Given the description of an element on the screen output the (x, y) to click on. 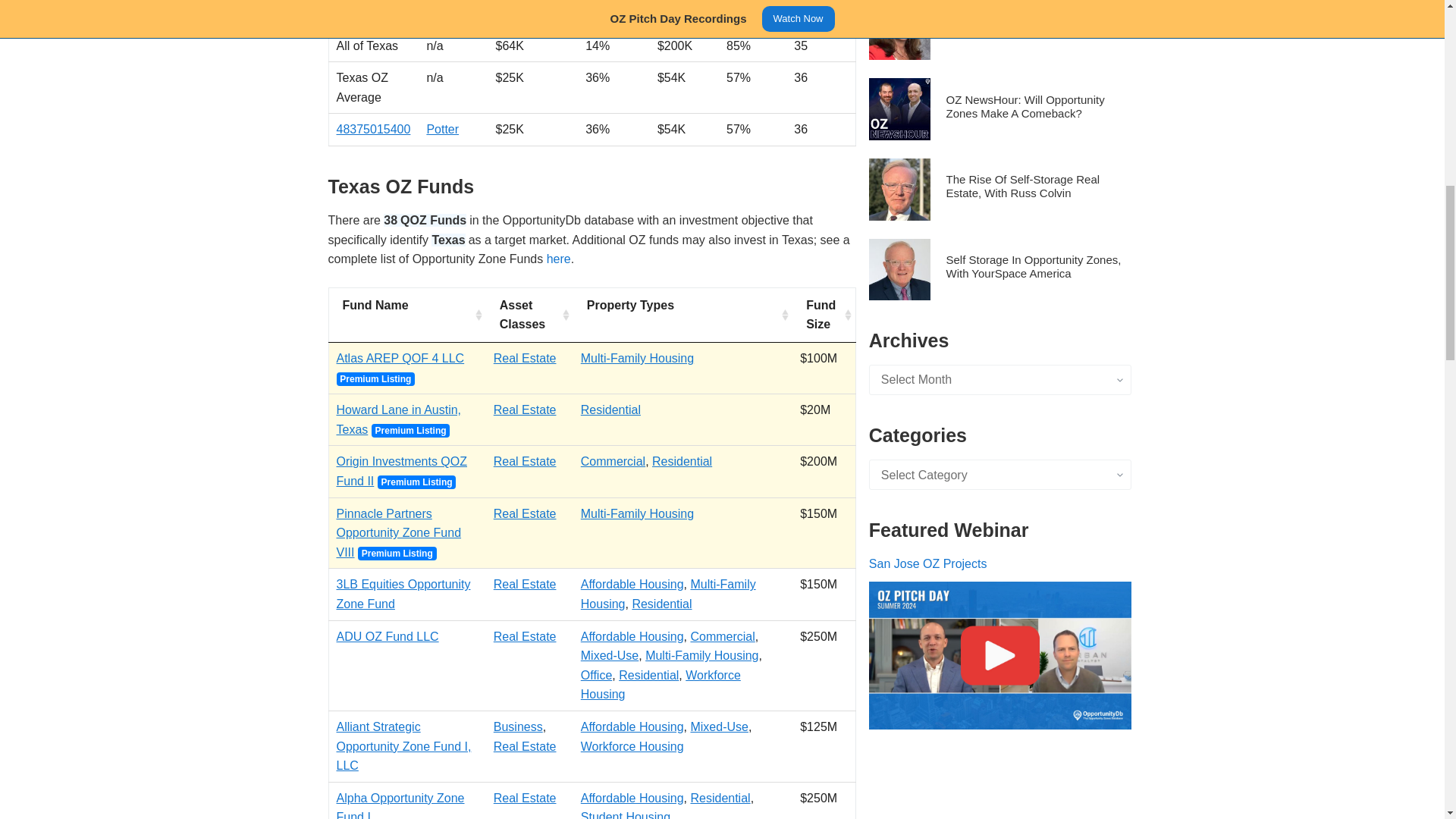
here (558, 258)
Real Estate (524, 513)
Pinnacle Partners Opportunity Zone Fund VIII (398, 532)
Multi-Family Housing (637, 358)
Atlas AREP QOF 4 LLC (400, 358)
Origin Investments QOZ Fund II (401, 471)
Real Estate (524, 358)
Residential (610, 409)
48375015400 (373, 128)
Real Estate (524, 409)
Real Estate (524, 584)
Residential (681, 461)
Real Estate (524, 461)
Howard Lane in Austin, Texas (398, 419)
3LB Equities Opportunity Zone Fund (403, 594)
